Given the description of an element on the screen output the (x, y) to click on. 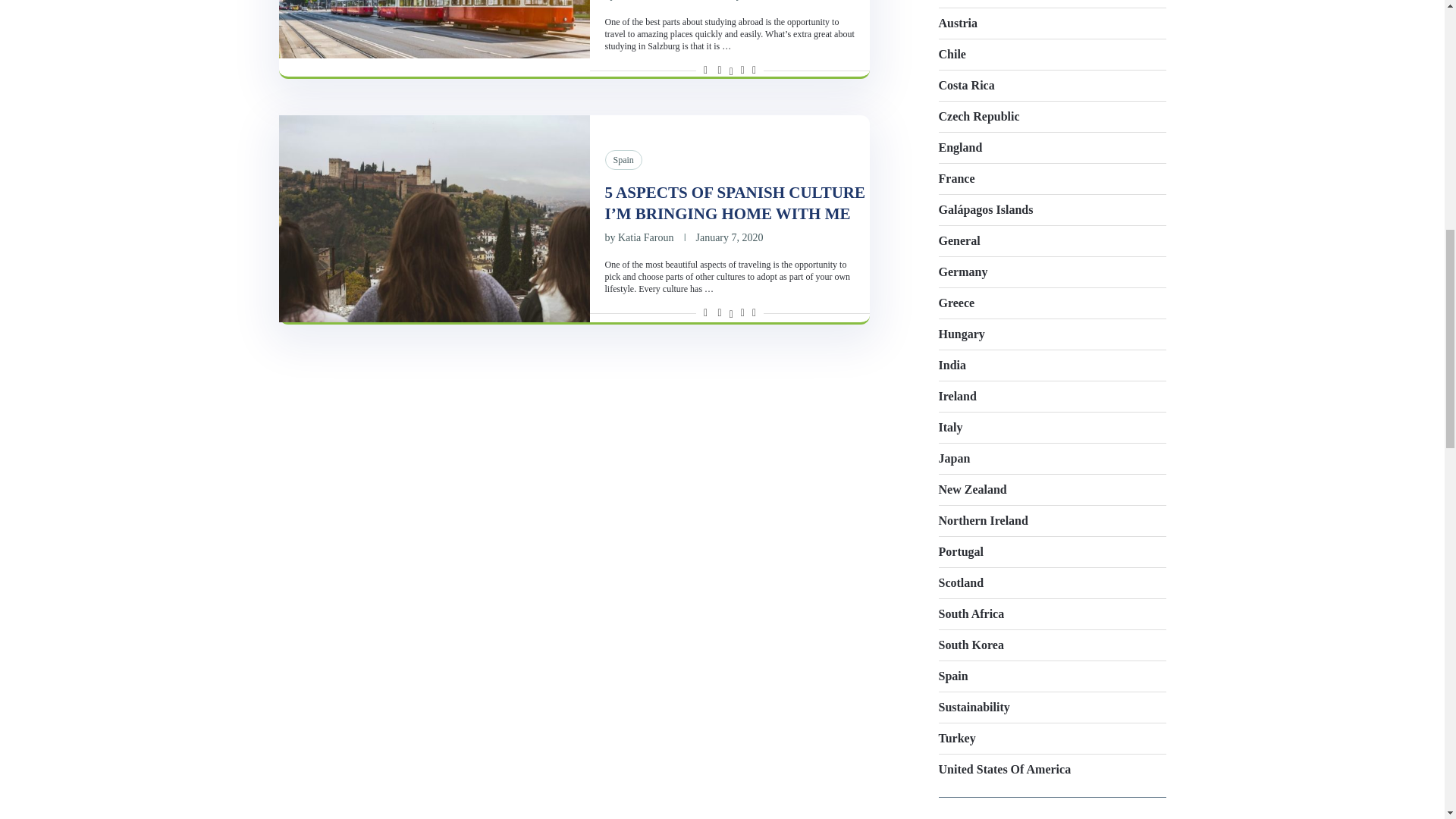
Spain (623, 159)
Katia Faroun (644, 237)
Brooke Thacker (651, 0)
